Given the description of an element on the screen output the (x, y) to click on. 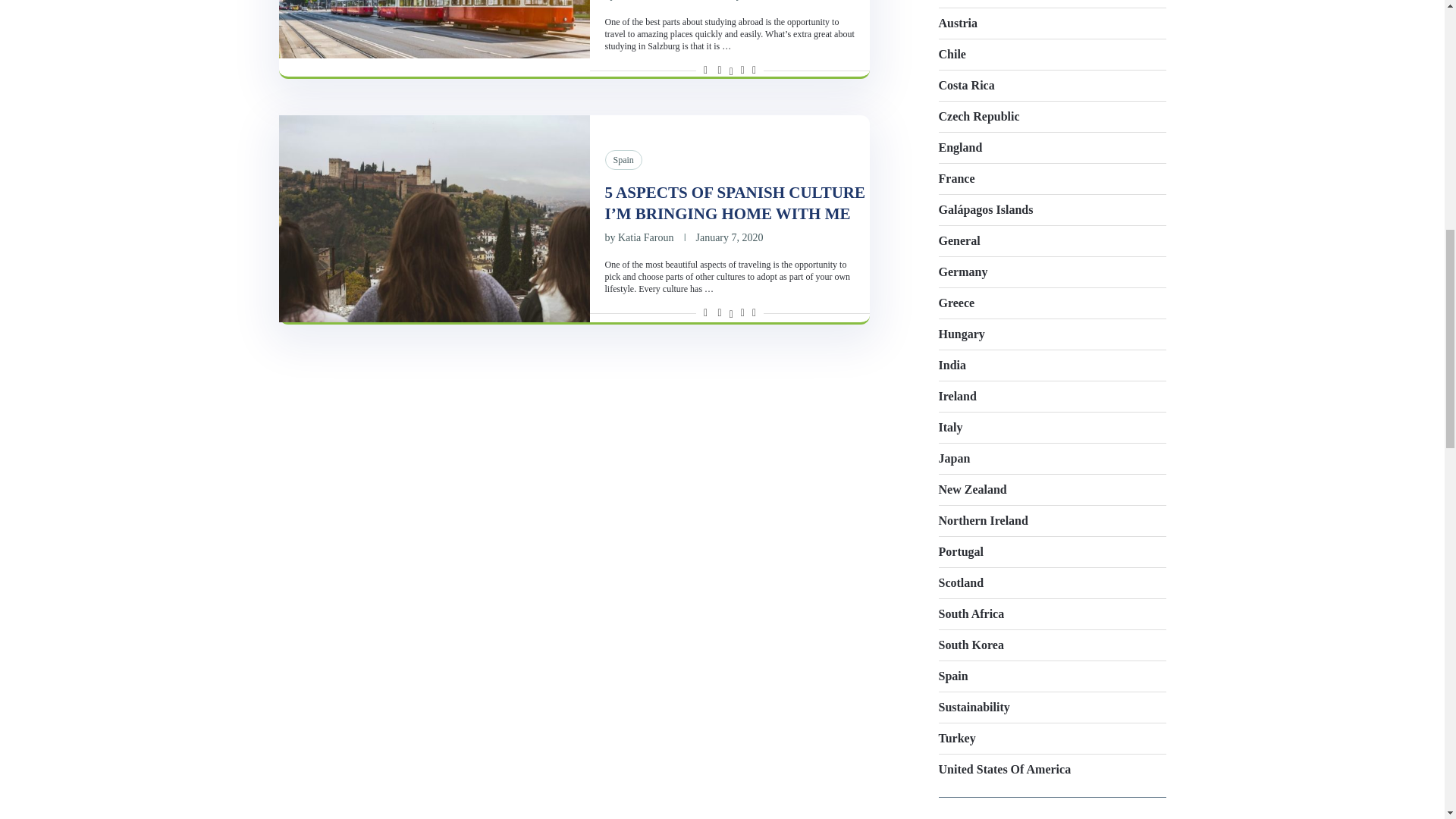
Spain (623, 159)
Katia Faroun (644, 237)
Brooke Thacker (651, 0)
